Given the description of an element on the screen output the (x, y) to click on. 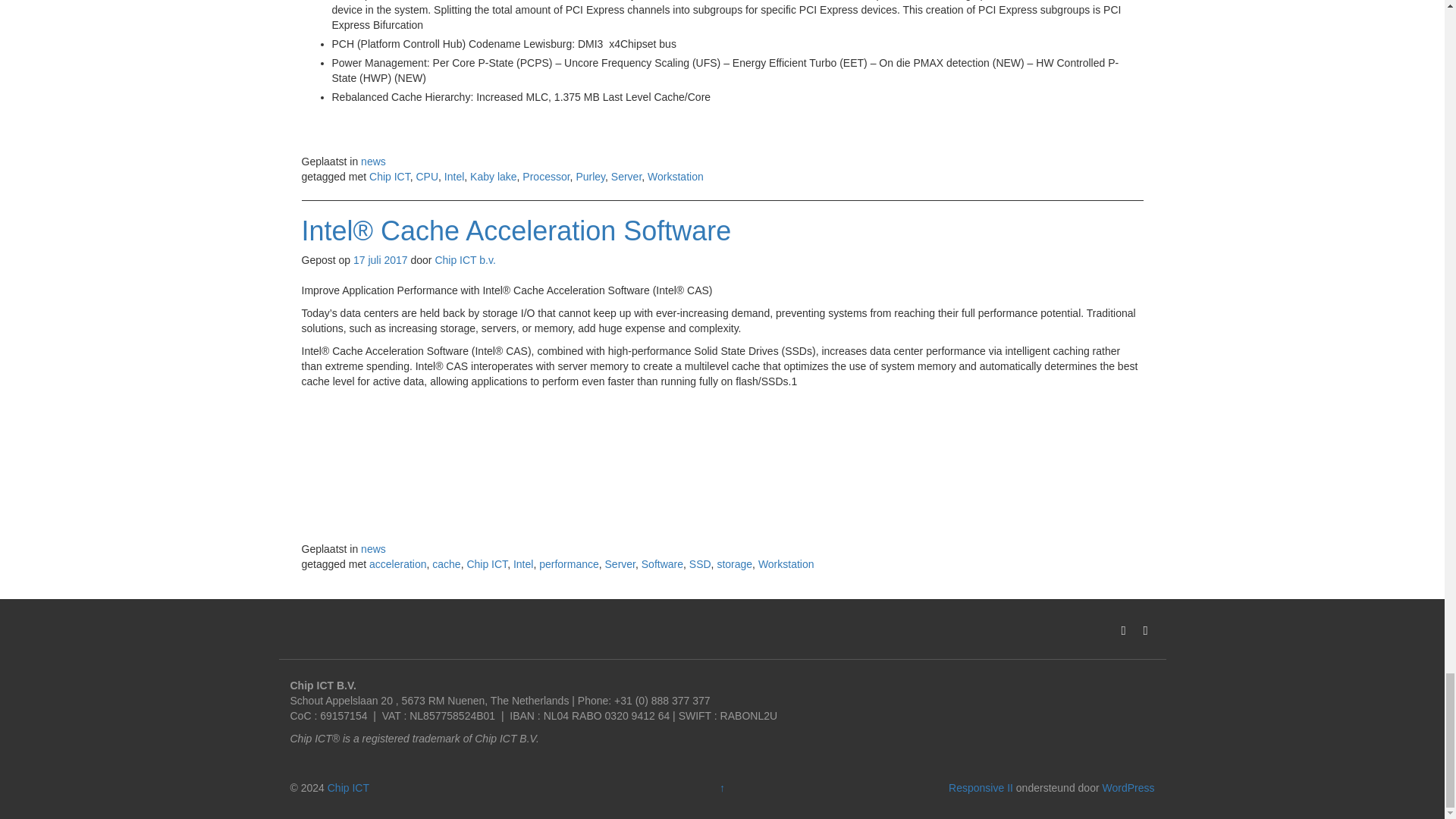
Chip ICT (348, 787)
Bekijk alle berichten van Chip ICT b.v. (464, 259)
09:49 (380, 259)
